Given the description of an element on the screen output the (x, y) to click on. 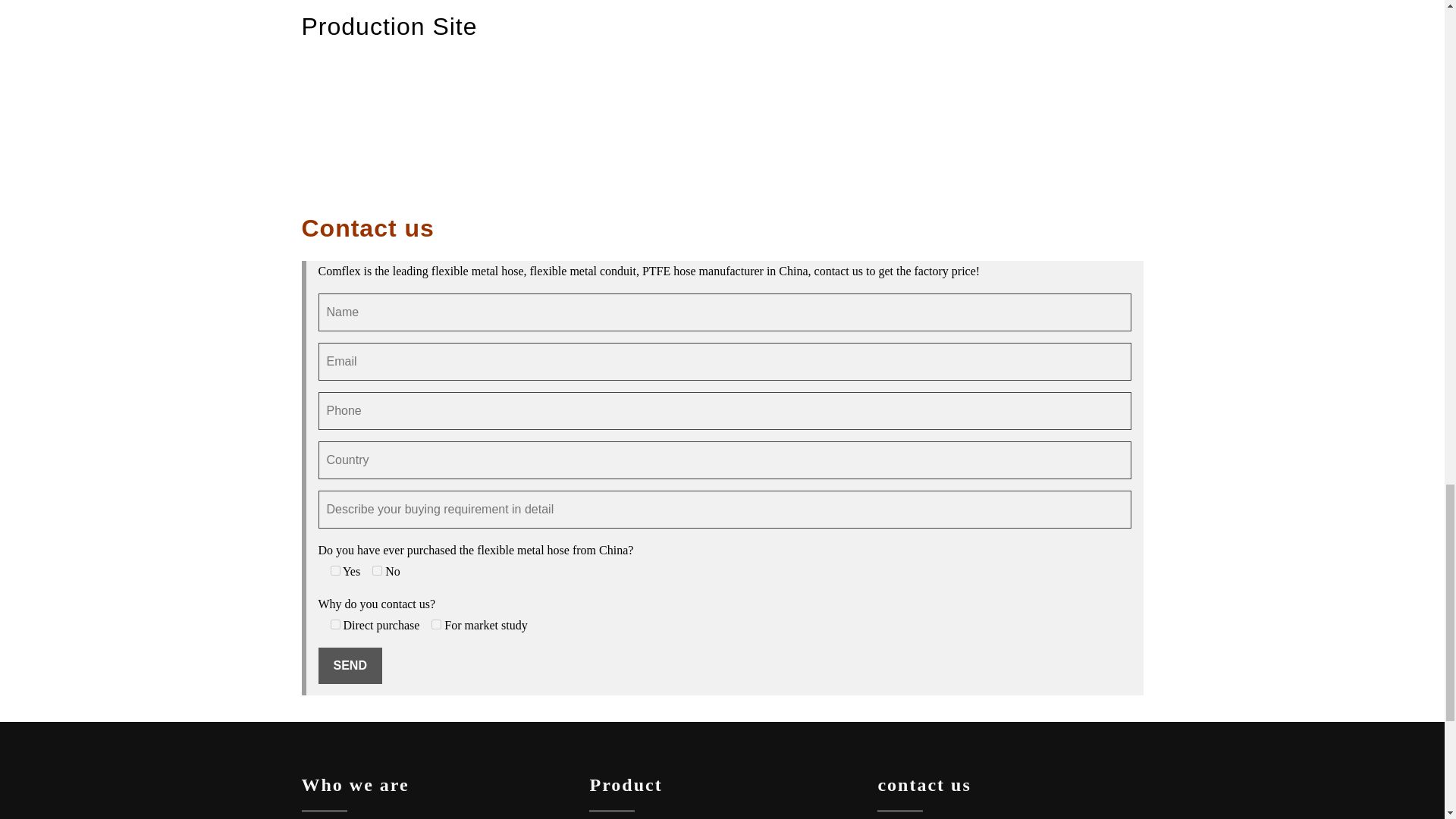
For market study (435, 624)
Yes (335, 570)
Send (349, 665)
Direct purchase (335, 624)
No (376, 570)
